Given the description of an element on the screen output the (x, y) to click on. 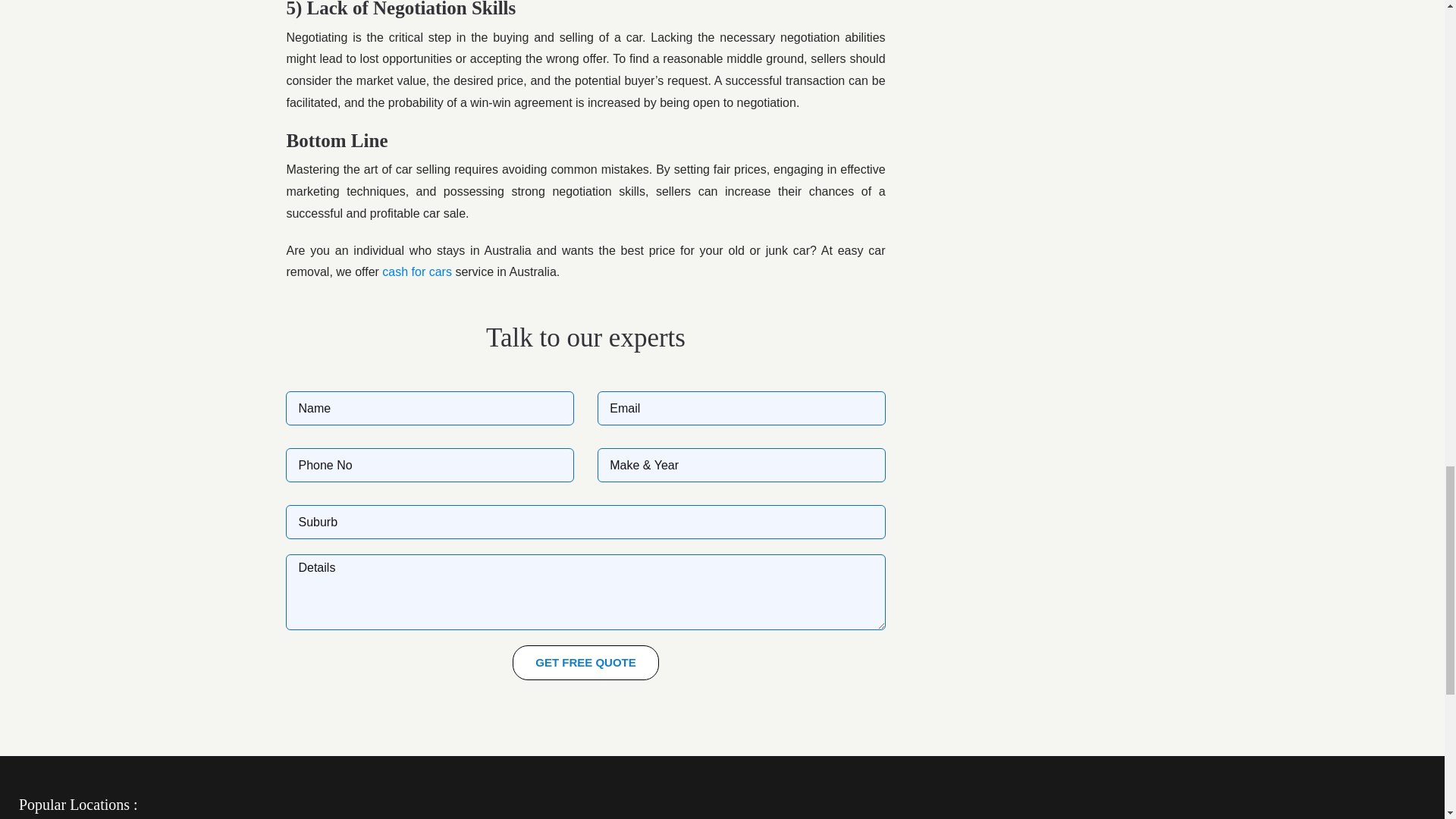
Get Free Quote (585, 662)
